Given the description of an element on the screen output the (x, y) to click on. 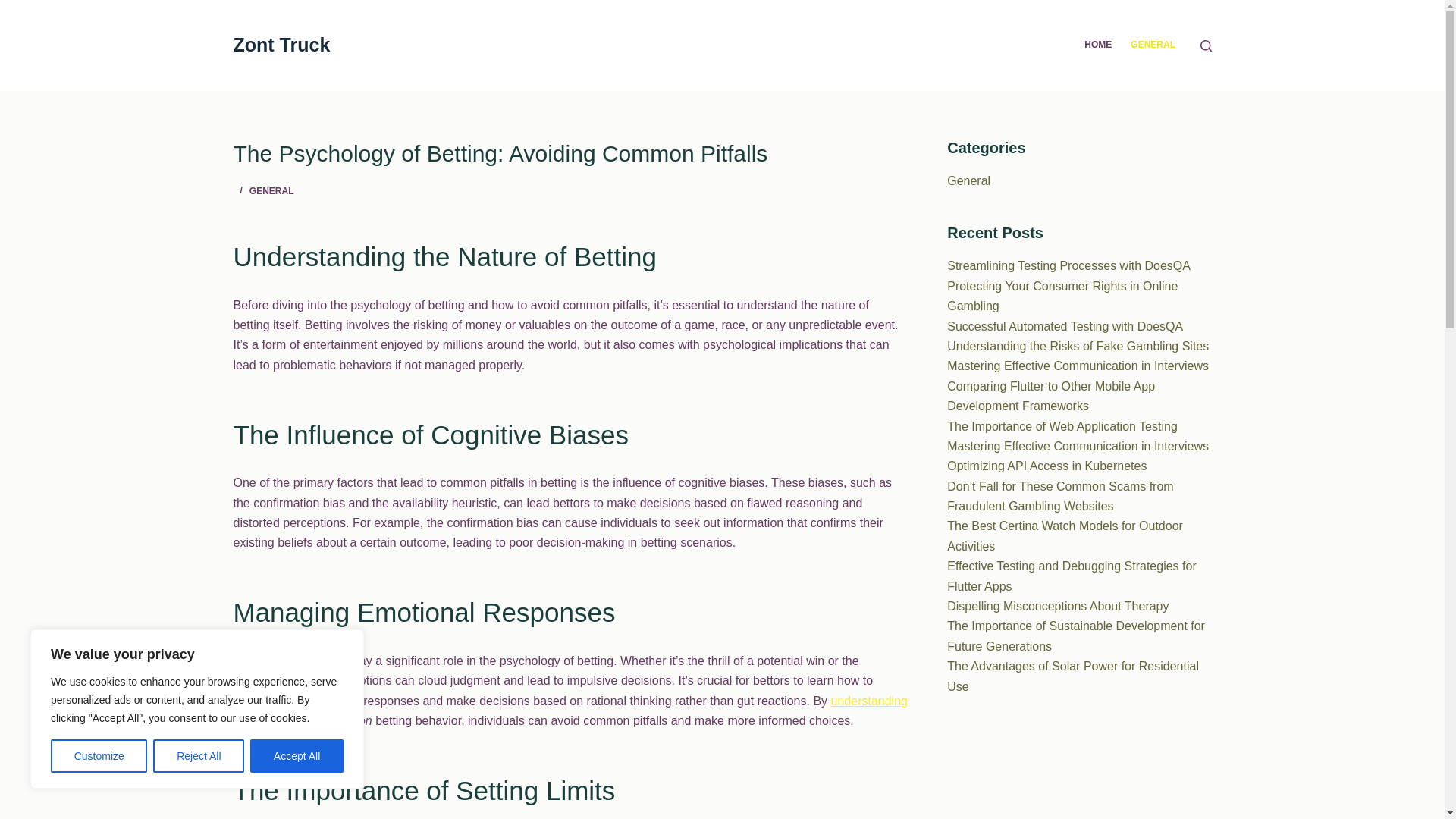
Streamlining Testing Processes with DoesQA (1069, 265)
Reject All (198, 756)
General (968, 180)
The Psychology of Betting: Avoiding Common Pitfalls (570, 153)
Successful Automated Testing with DoesQA (1064, 326)
Protecting Your Consumer Rights in Online Gambling (1062, 296)
Skip to content (15, 7)
understanding (869, 700)
Customize (98, 756)
GENERAL (271, 190)
